Given the description of an element on the screen output the (x, y) to click on. 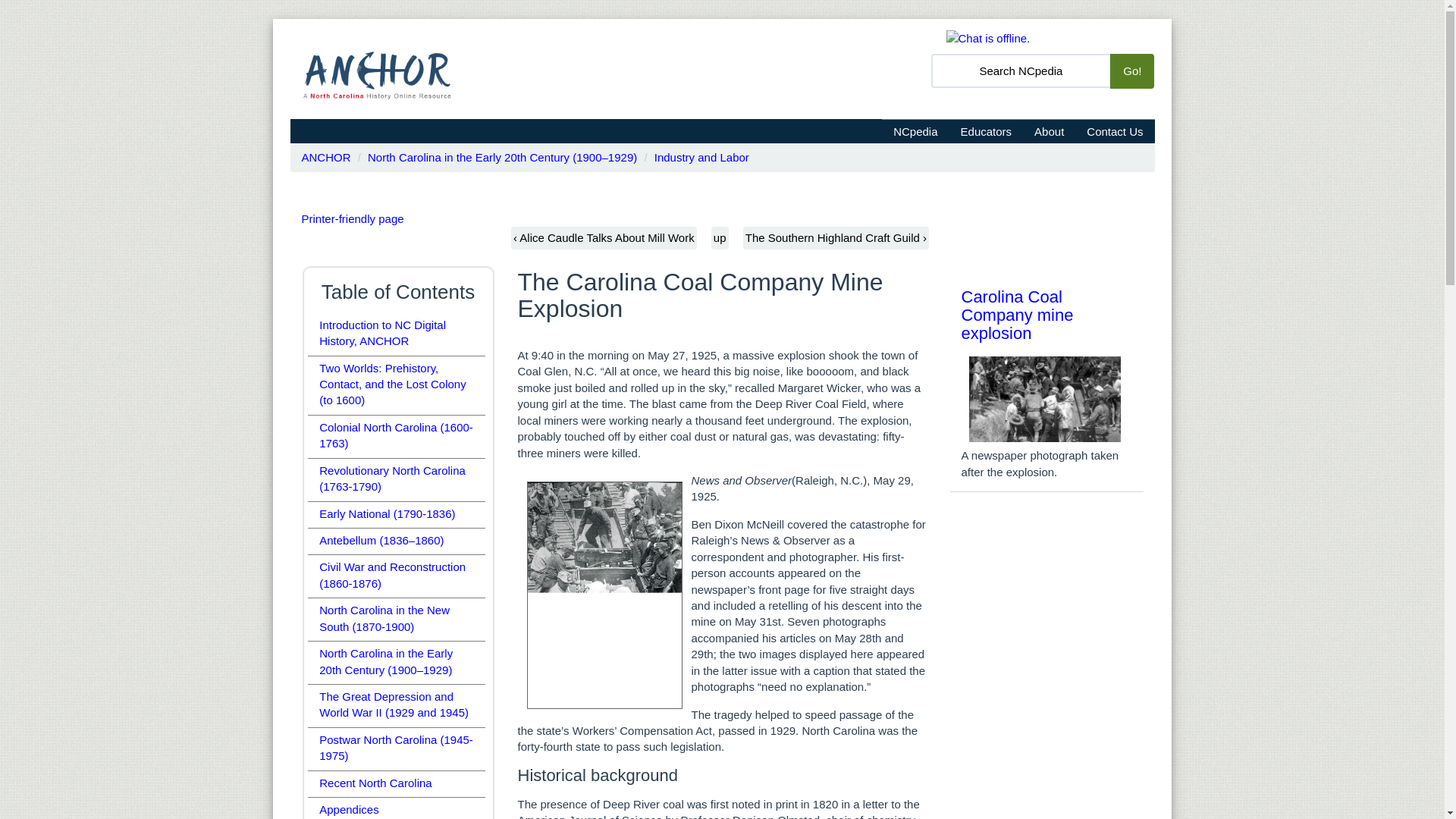
Go! (1131, 70)
Contact Us (1114, 130)
NCpedia (915, 130)
Industry and Labor (701, 156)
Printer-friendly page (352, 218)
Educators (986, 130)
Go! (1131, 70)
ANCHOR (325, 156)
Go to next page (835, 237)
Link to NCpedia main page (915, 130)
